Given the description of an element on the screen output the (x, y) to click on. 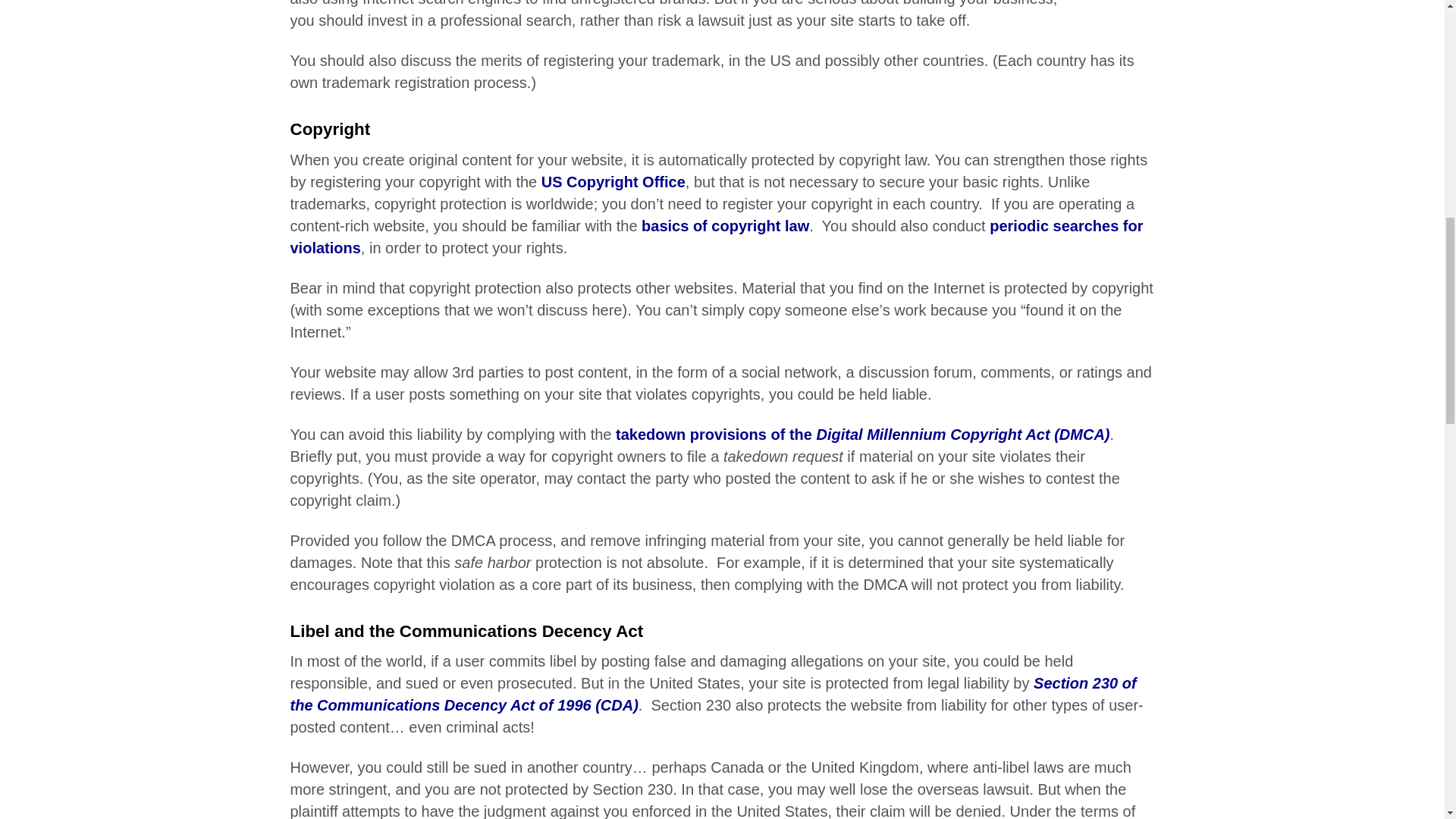
periodic searches for violations (715, 236)
US Copyright Office (613, 180)
basics of copyright law (725, 225)
